Given the description of an element on the screen output the (x, y) to click on. 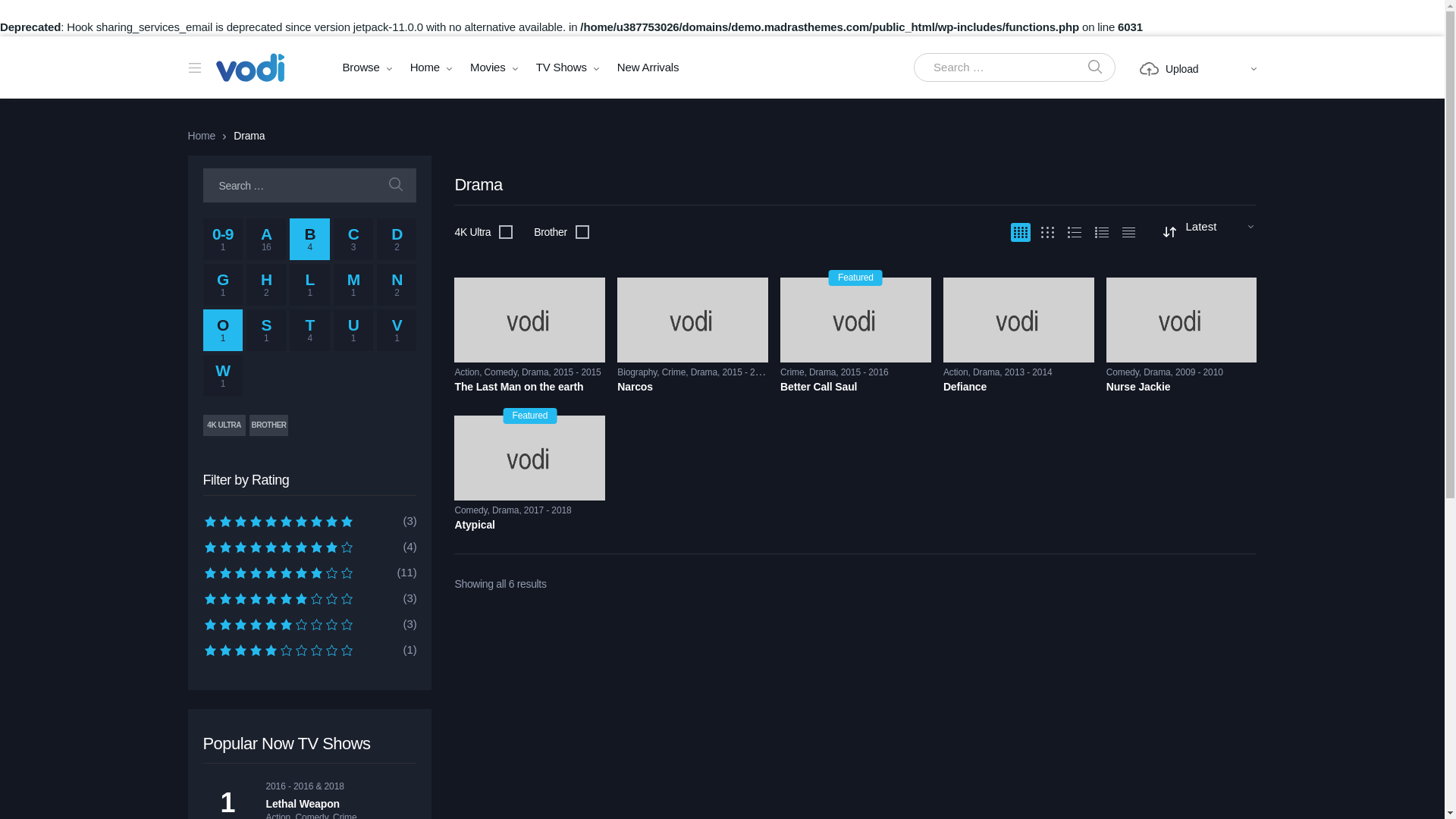
Browse (360, 67)
Home (424, 67)
Browse (360, 67)
